Given the description of an element on the screen output the (x, y) to click on. 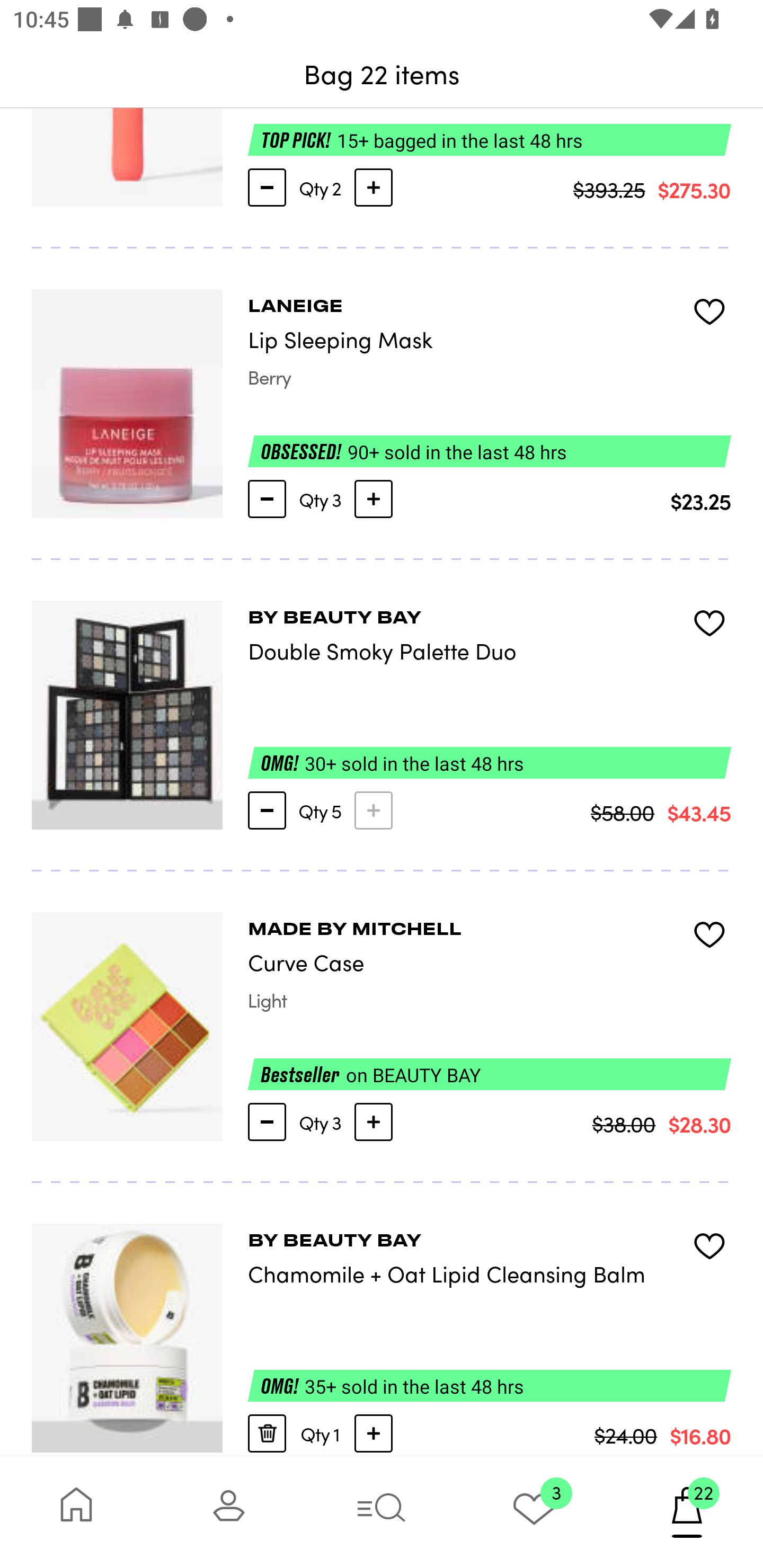
3 (533, 1512)
22 (686, 1512)
